Given the description of an element on the screen output the (x, y) to click on. 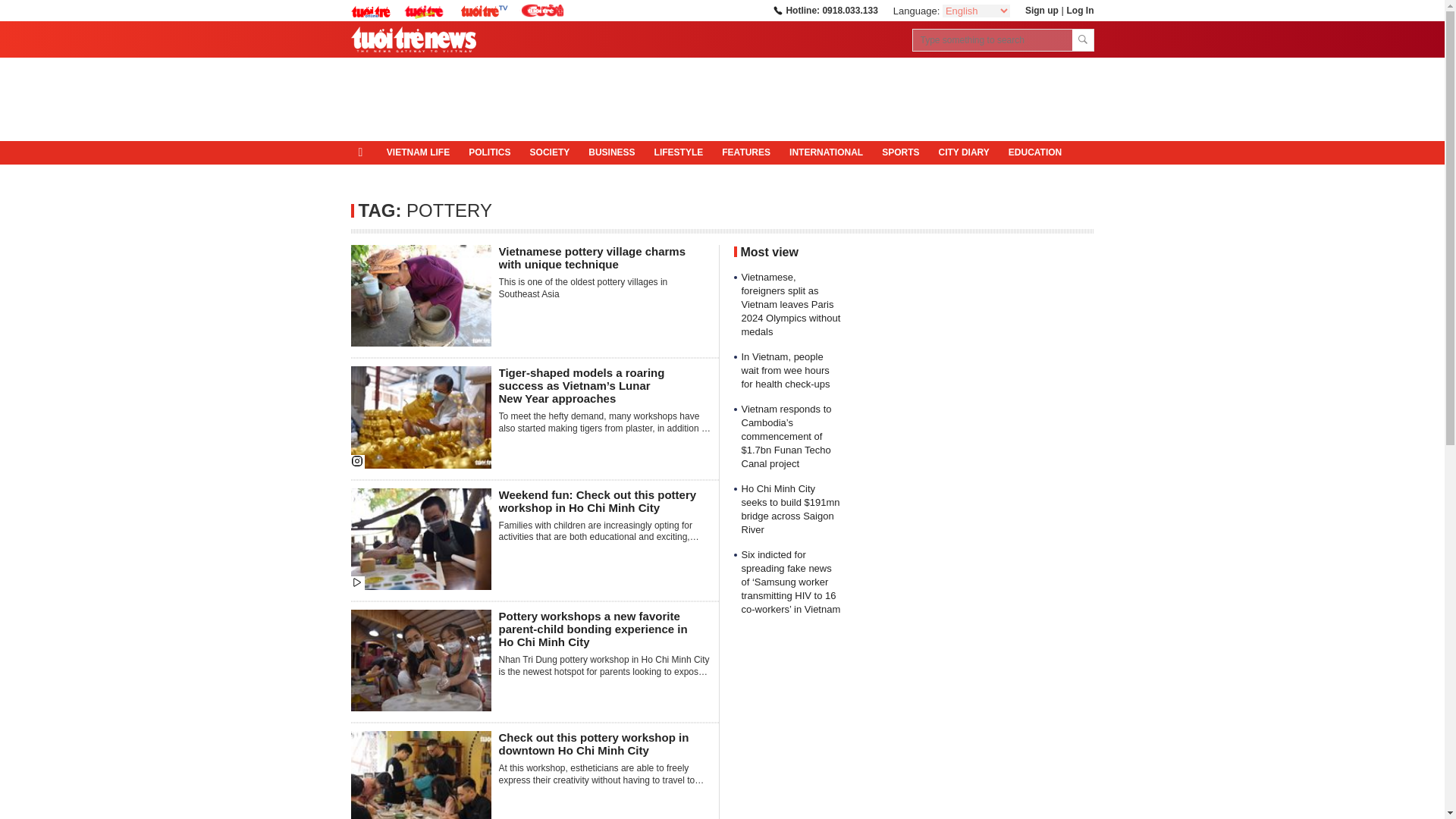
POLITICS (489, 152)
EDUCATION (1034, 152)
VIETNAM LIFE (417, 152)
CITY DIARY (963, 152)
Vietnamese pottery village charms with unique technique (592, 257)
SOCIETY (549, 152)
Hotline: 0918.033.133 (824, 9)
Education (1034, 152)
home (363, 152)
SPORTS (900, 152)
